Given the description of an element on the screen output the (x, y) to click on. 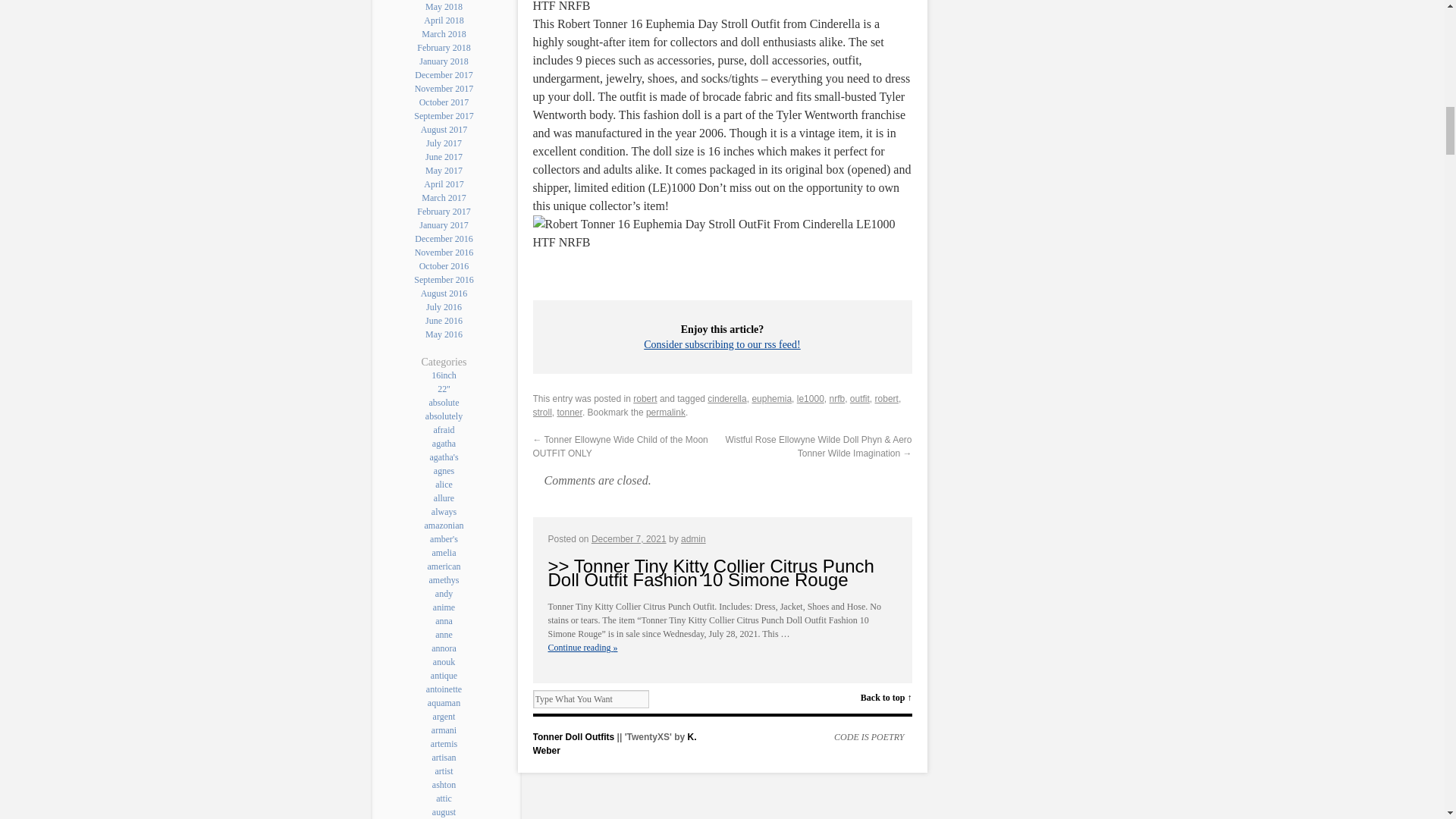
Search (662, 698)
Search (662, 698)
Type What You Want (589, 699)
